Given the description of an element on the screen output the (x, y) to click on. 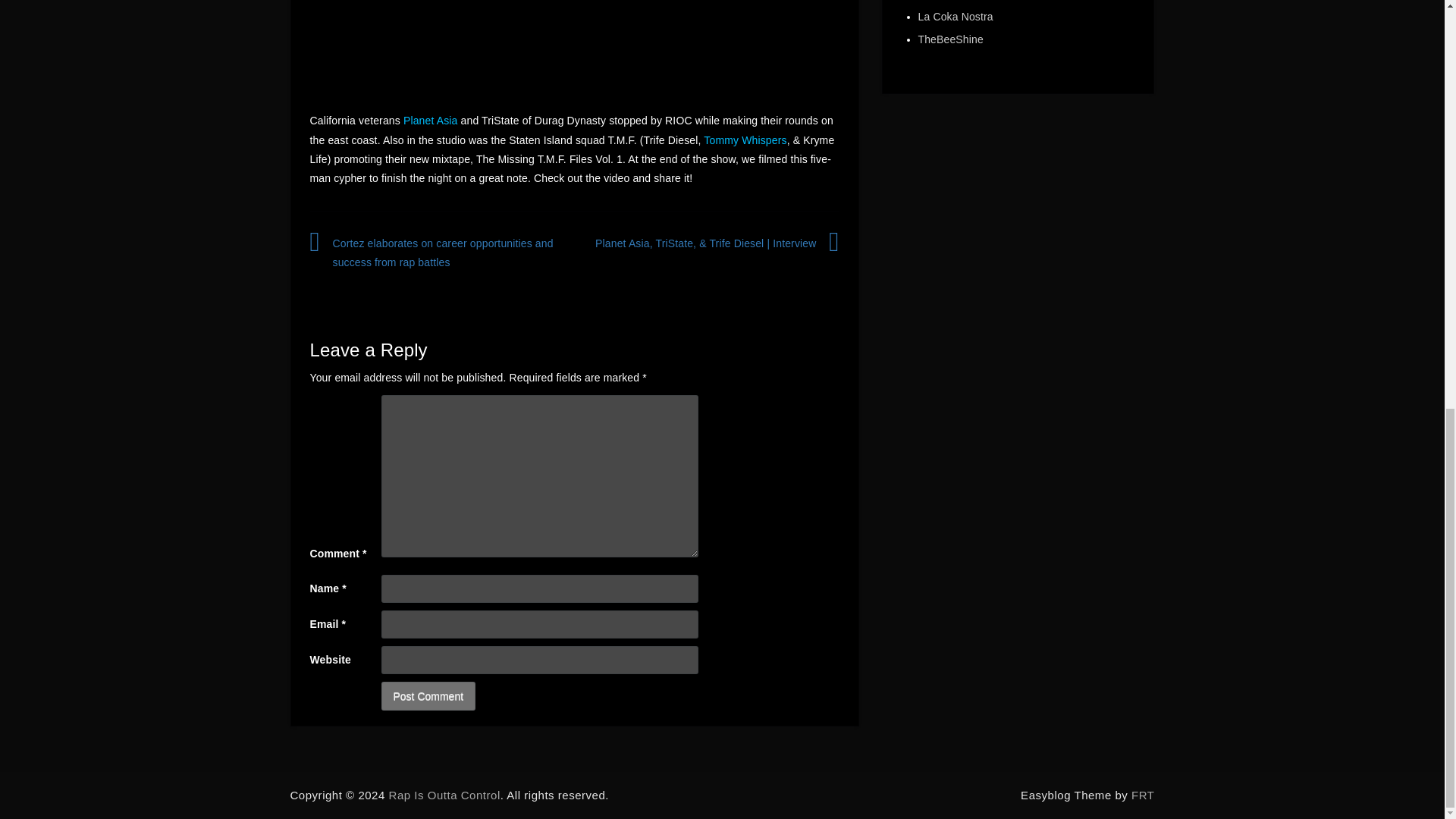
Post Comment (428, 695)
TheBeeShine (949, 39)
FRT (1142, 794)
Tommy Whispers (744, 140)
Post Comment (428, 695)
Planet Asia (430, 120)
Rap Is Outta Control (444, 794)
Rap Is Outta Control (444, 794)
La Coka Nostra (954, 16)
